Given the description of an element on the screen output the (x, y) to click on. 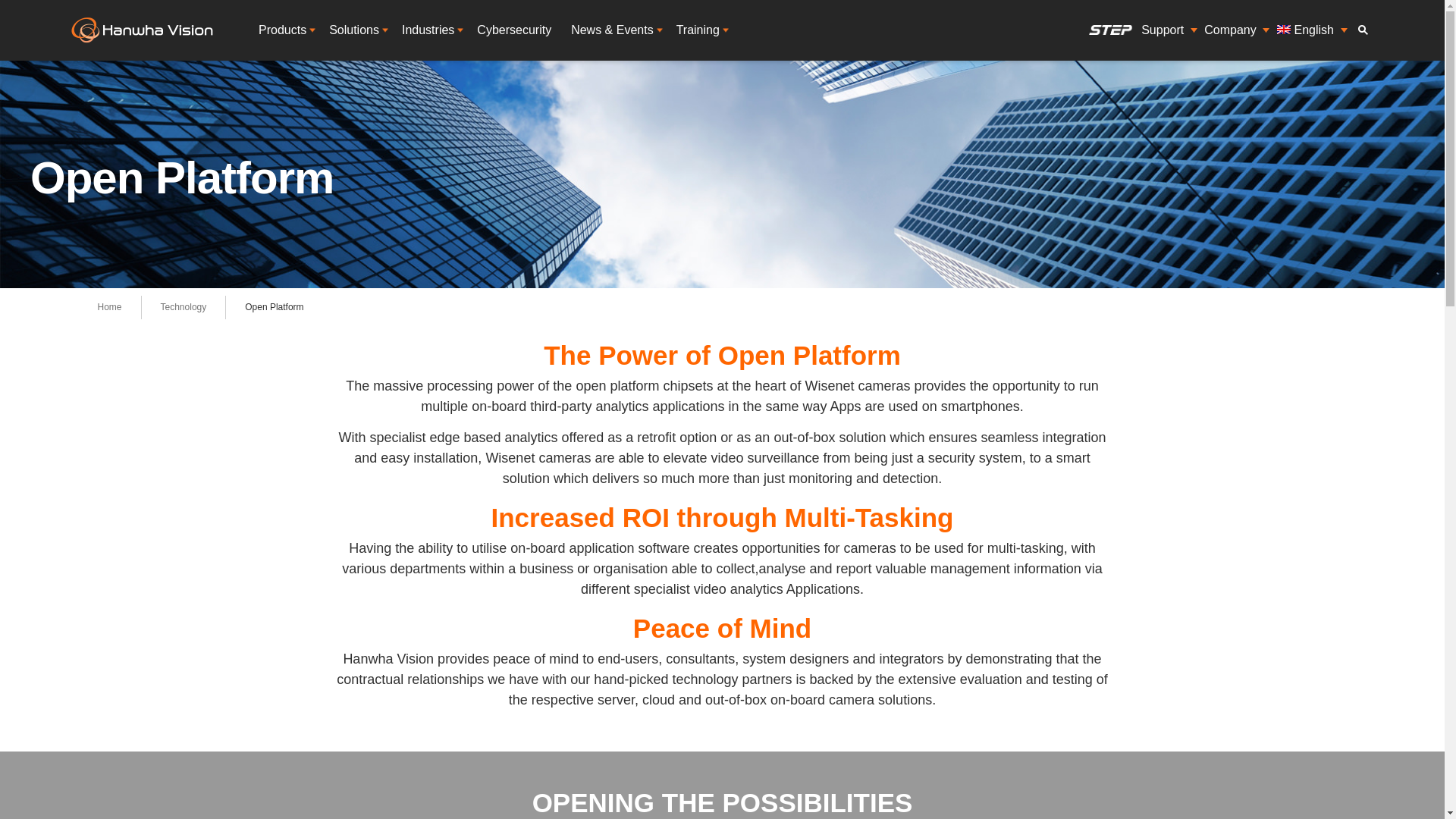
English (1307, 30)
Industries (429, 30)
Solutions (354, 30)
Products (283, 30)
